Given the description of an element on the screen output the (x, y) to click on. 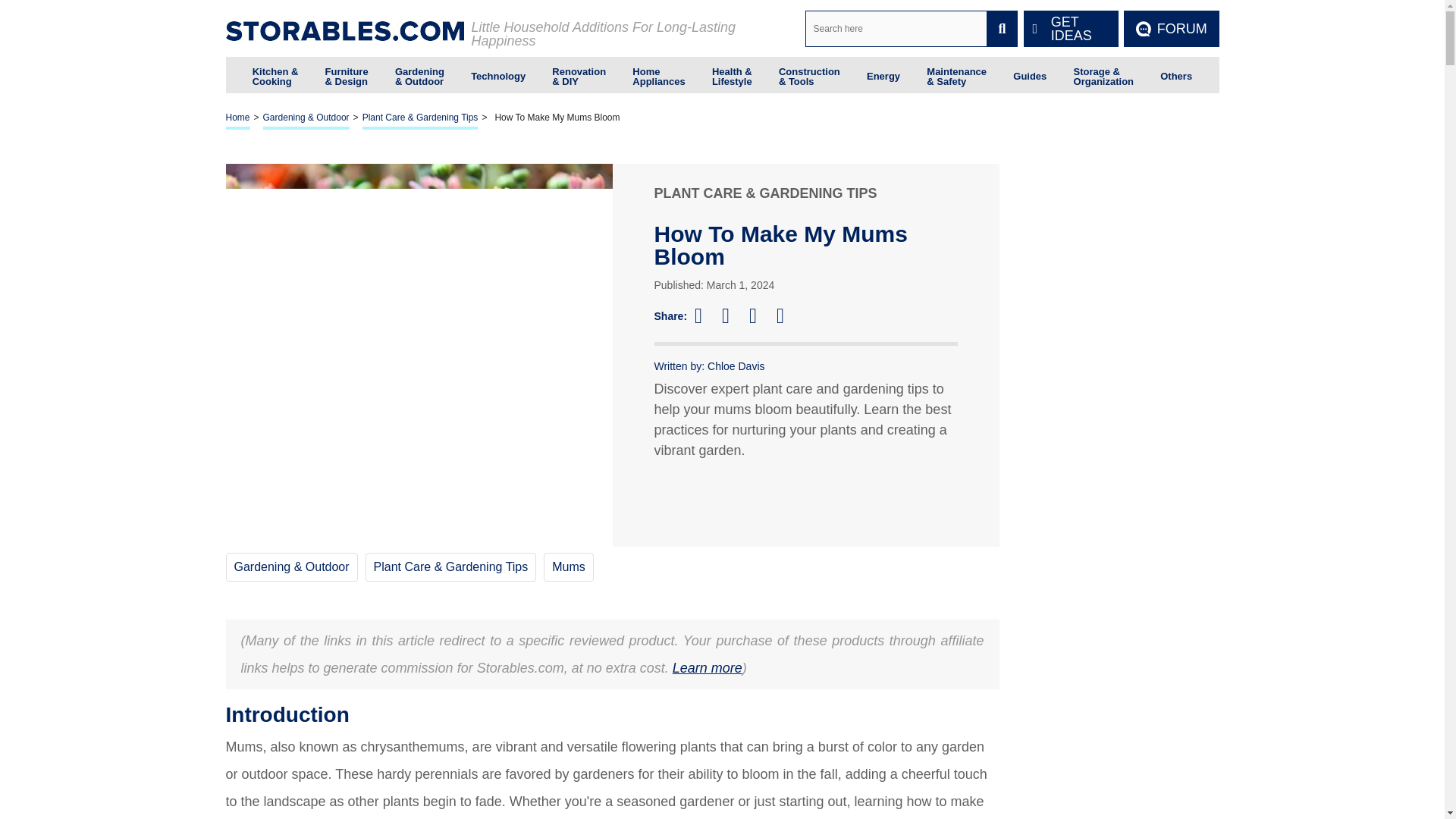
FORUM (1171, 28)
Share on Twitter (732, 315)
Share on Pinterest (759, 315)
Share on Facebook (705, 315)
Share on WhatsApp (786, 315)
GET IDEAS (1070, 28)
Technology (497, 74)
